Given the description of an element on the screen output the (x, y) to click on. 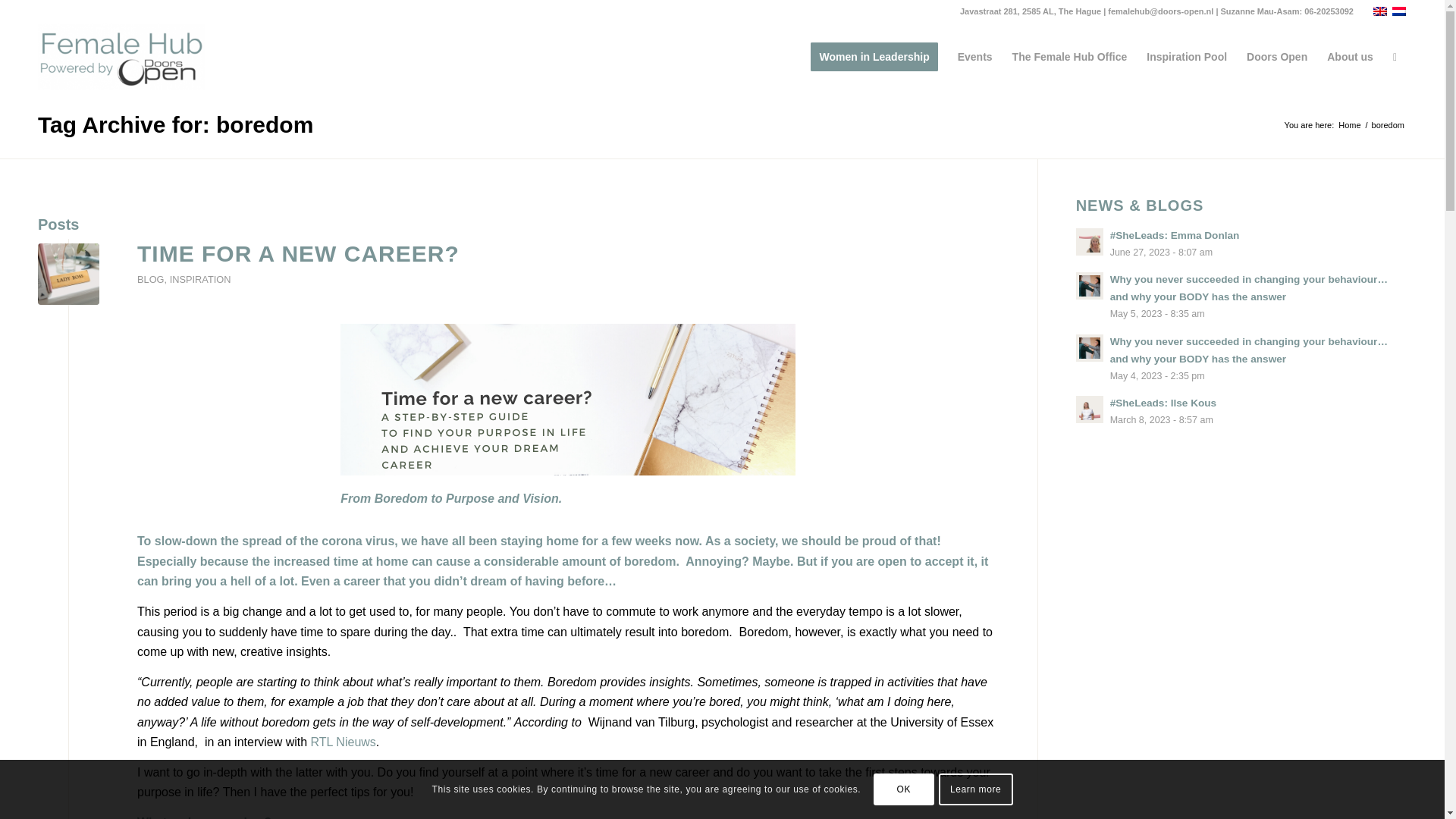
Time for a new career? (68, 273)
TIME FOR A NEW CAREER? (298, 253)
English (1380, 10)
Nederlands (1398, 10)
Tag Archive for: boredom (175, 124)
About us (1350, 56)
RTL Nieuws (343, 741)
BLOG (150, 279)
The Female Hub Office (1070, 56)
Permanent Link: Time for a new career? (298, 253)
